Given the description of an element on the screen output the (x, y) to click on. 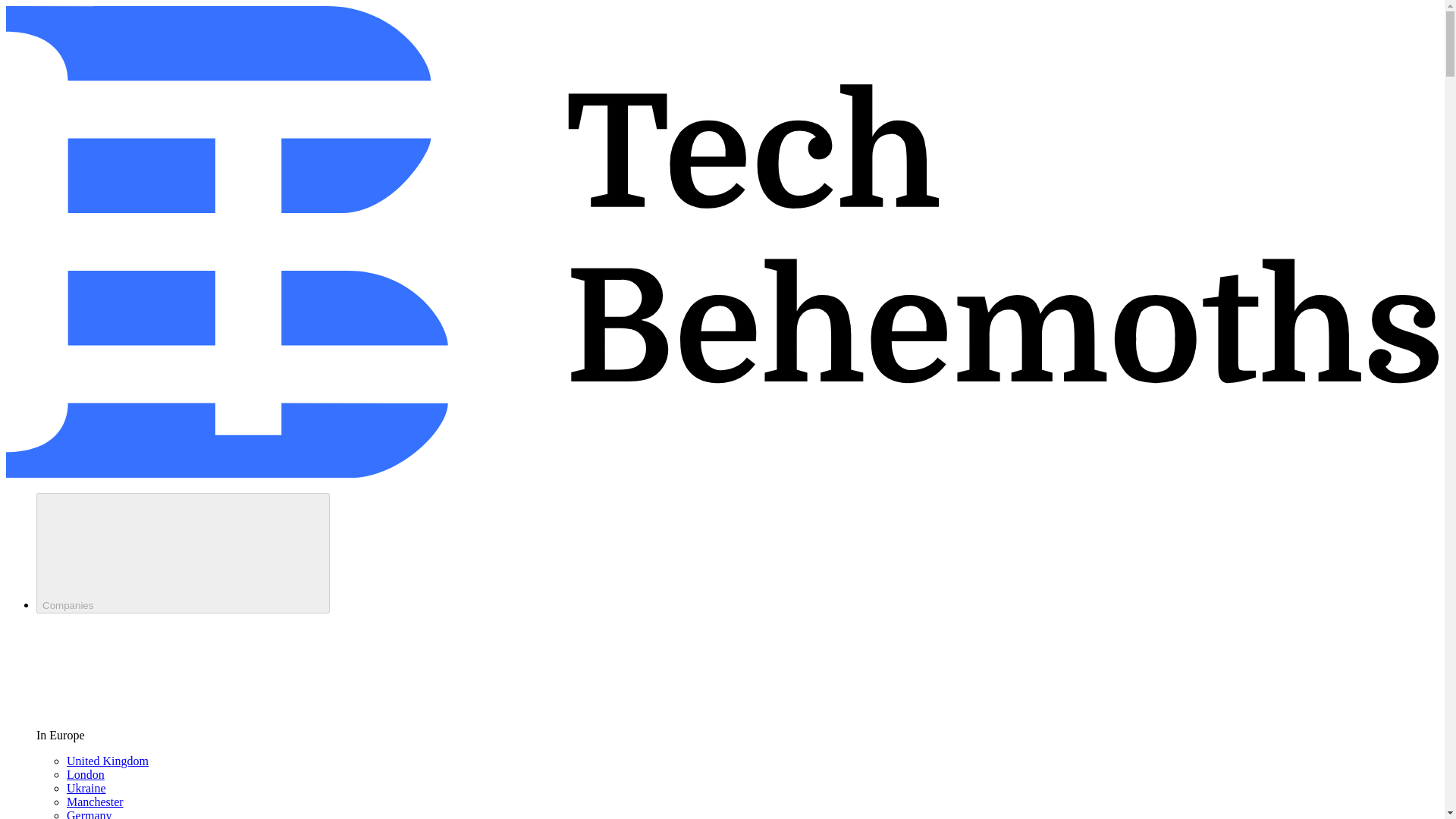
United Kingdom (107, 760)
Ukraine (86, 788)
Germany (89, 814)
Manchester (94, 801)
Companies (183, 553)
London (85, 774)
